Given the description of an element on the screen output the (x, y) to click on. 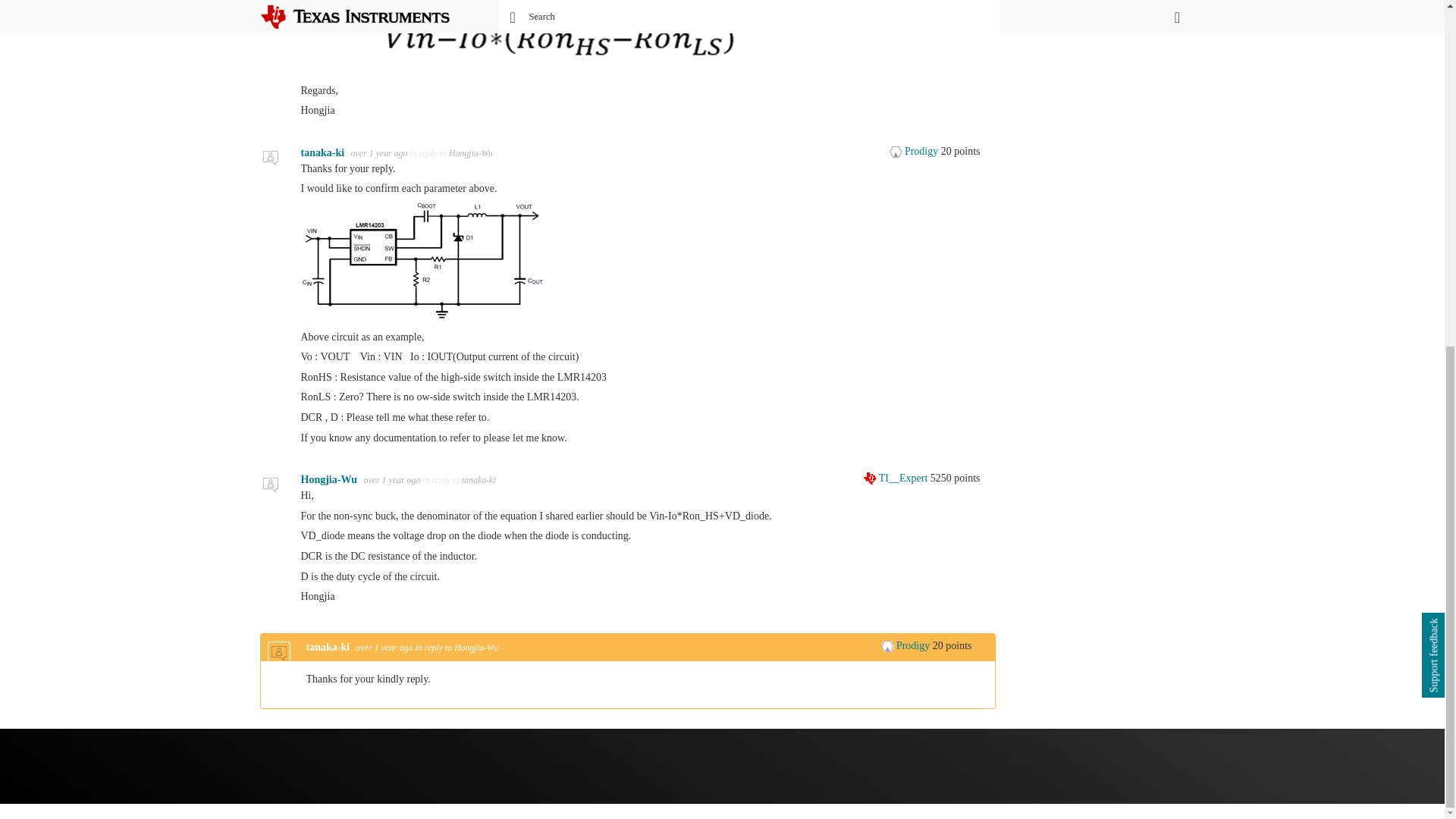
Click here for explanation of levels (906, 645)
Click here for explanation of levels (914, 151)
Click here for explanation of levels (896, 478)
